Given the description of an element on the screen output the (x, y) to click on. 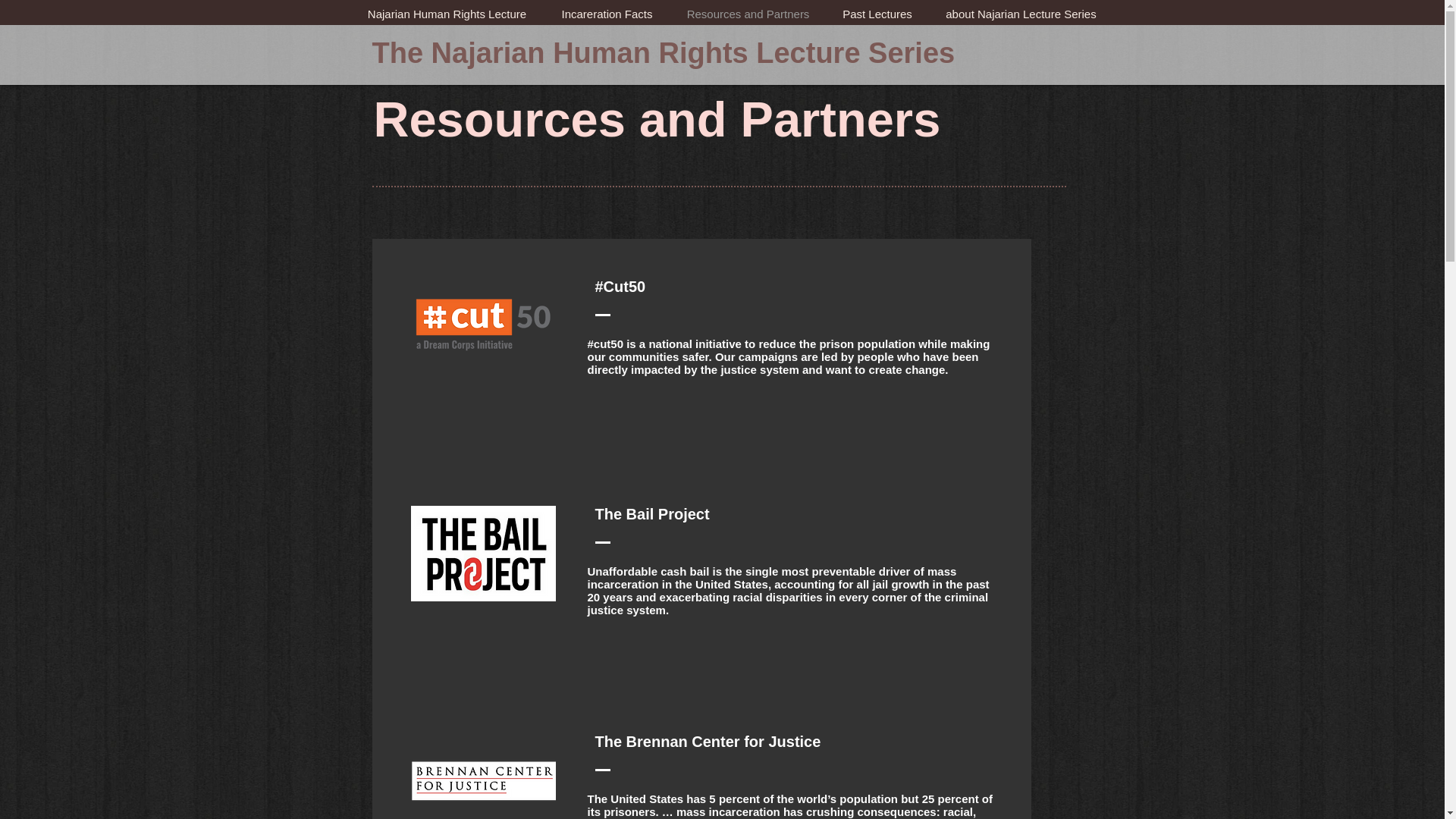
Najarian Human Rights Lecture (446, 14)
Resources and Partners (747, 14)
Incareration Facts (606, 14)
Past Lectures (876, 14)
about Najarian Lecture Series (1021, 14)
